Given the description of an element on the screen output the (x, y) to click on. 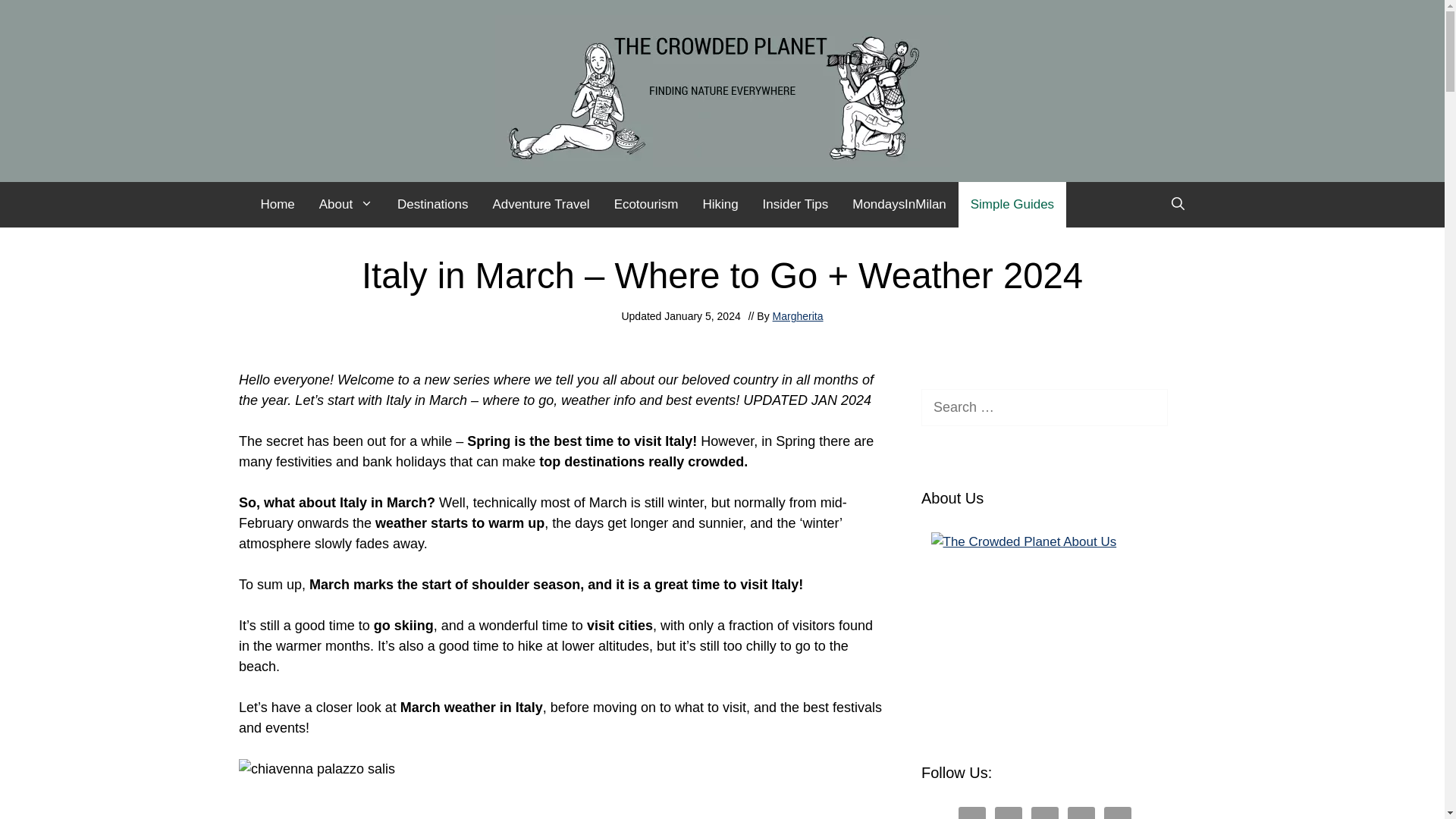
Margherita (798, 316)
Destinations (432, 204)
Simple Guides (1011, 204)
Insider Tips (796, 204)
Search for: (1044, 407)
Ecotourism (646, 204)
Hiking (719, 204)
MondaysInMilan (899, 204)
Adventure Travel (540, 204)
About (346, 204)
Home (277, 204)
